Given the description of an element on the screen output the (x, y) to click on. 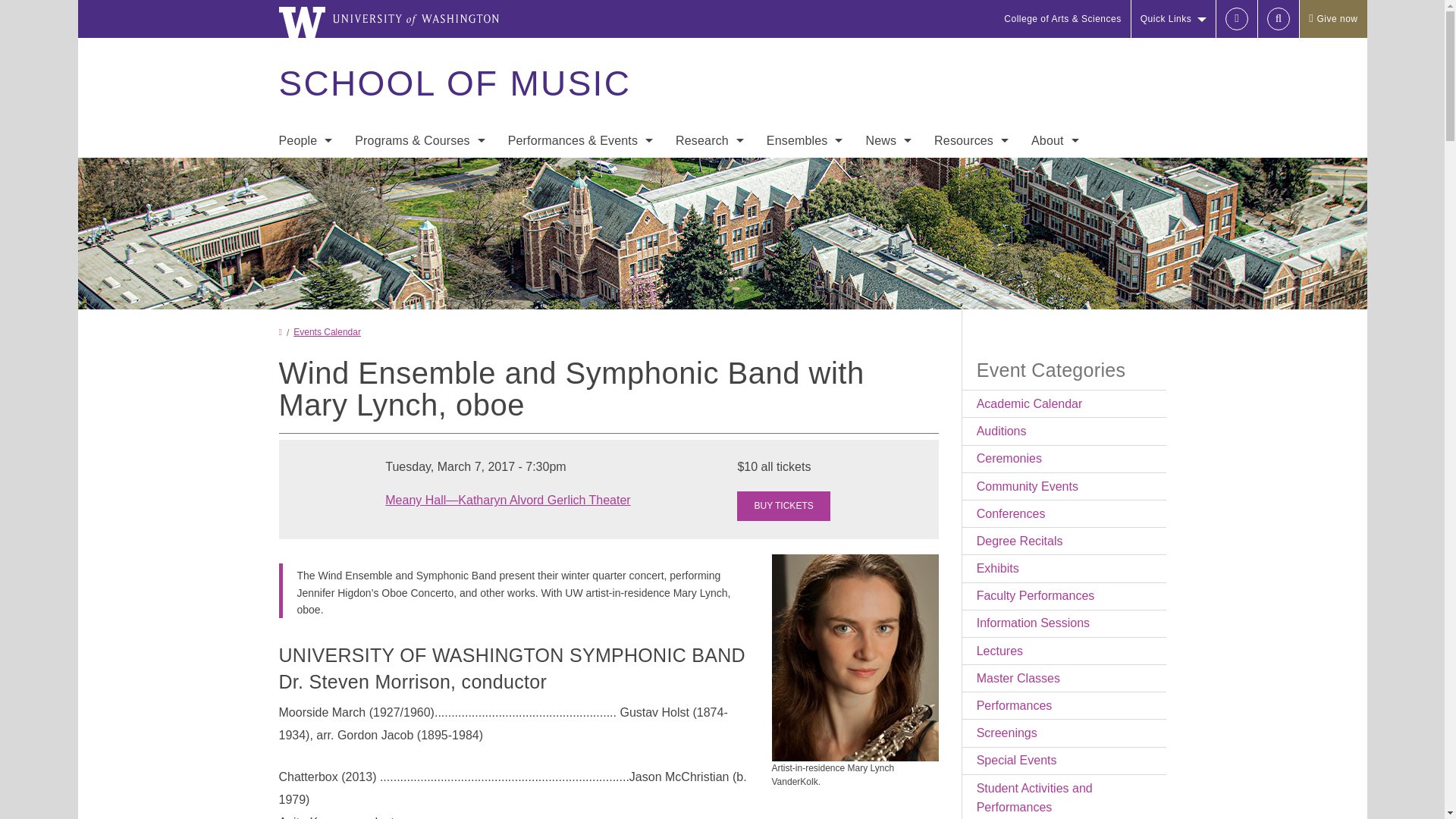
Quick Links (1173, 18)
Faculty (304, 173)
Hire a Musician (304, 263)
Graduate Students (304, 233)
SCHOOL OF MUSIC (454, 83)
Areas of Study (419, 173)
People (304, 140)
Staff (304, 203)
Alumni (304, 294)
